Given the description of an element on the screen output the (x, y) to click on. 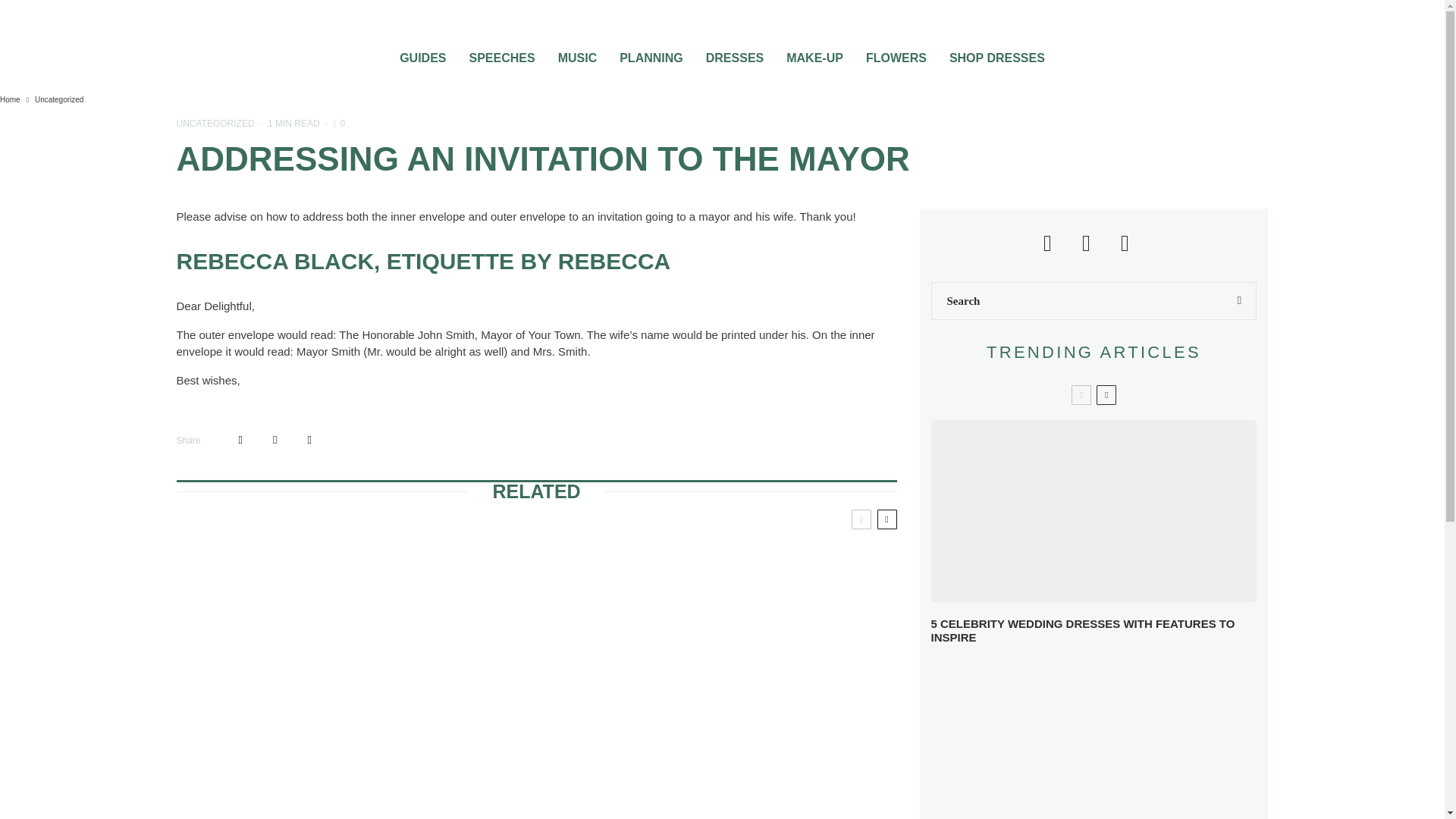
SPEECHES (501, 52)
MUSIC (577, 52)
DRESSES (734, 52)
Wedding Planning (651, 52)
GUIDES (422, 52)
PLANNING (651, 52)
